Given the description of an element on the screen output the (x, y) to click on. 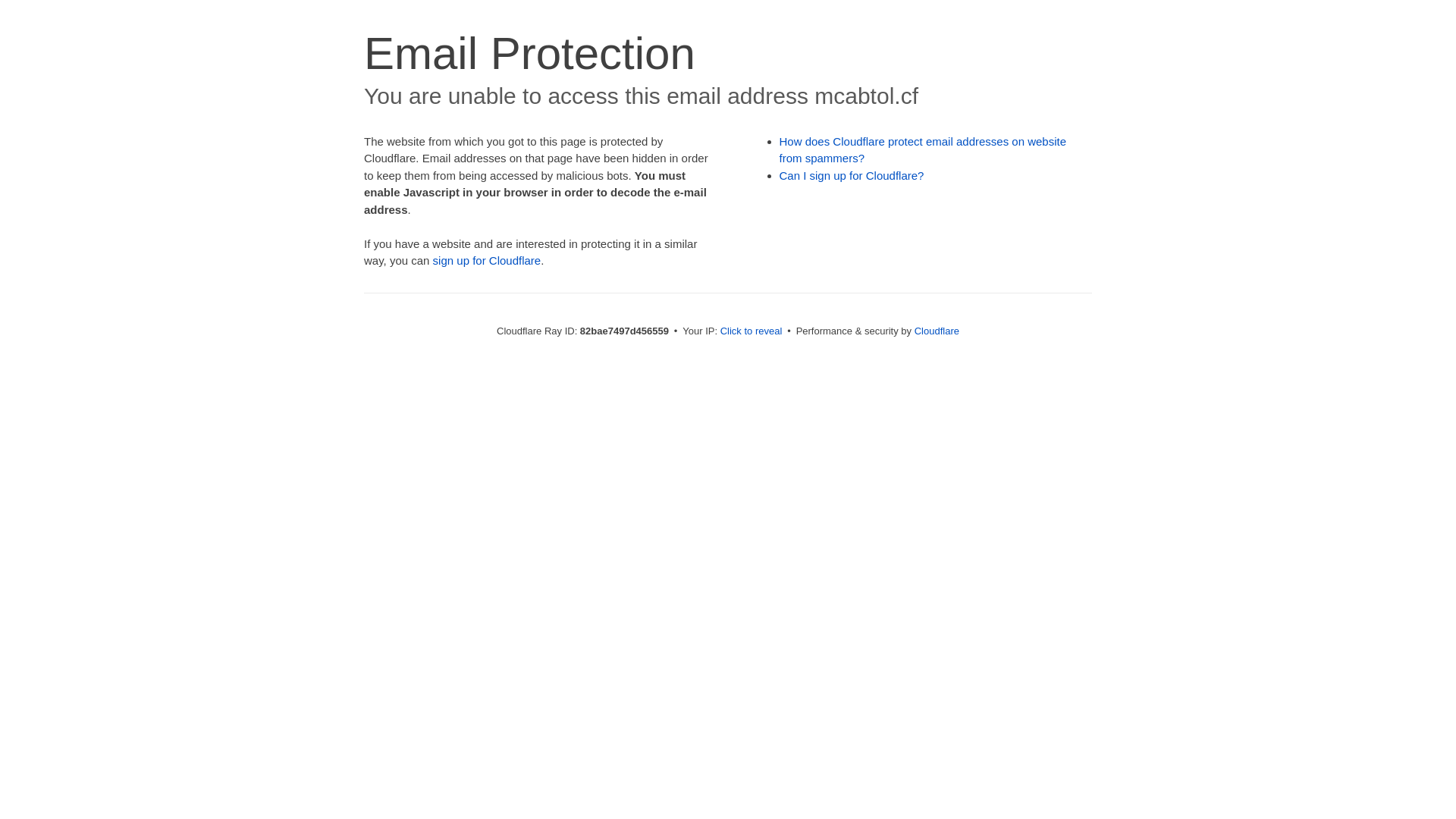
sign up for Cloudflare Element type: text (487, 260)
Can I sign up for Cloudflare? Element type: text (851, 175)
Click to reveal Element type: text (751, 330)
Cloudflare Element type: text (936, 330)
